Given the description of an element on the screen output the (x, y) to click on. 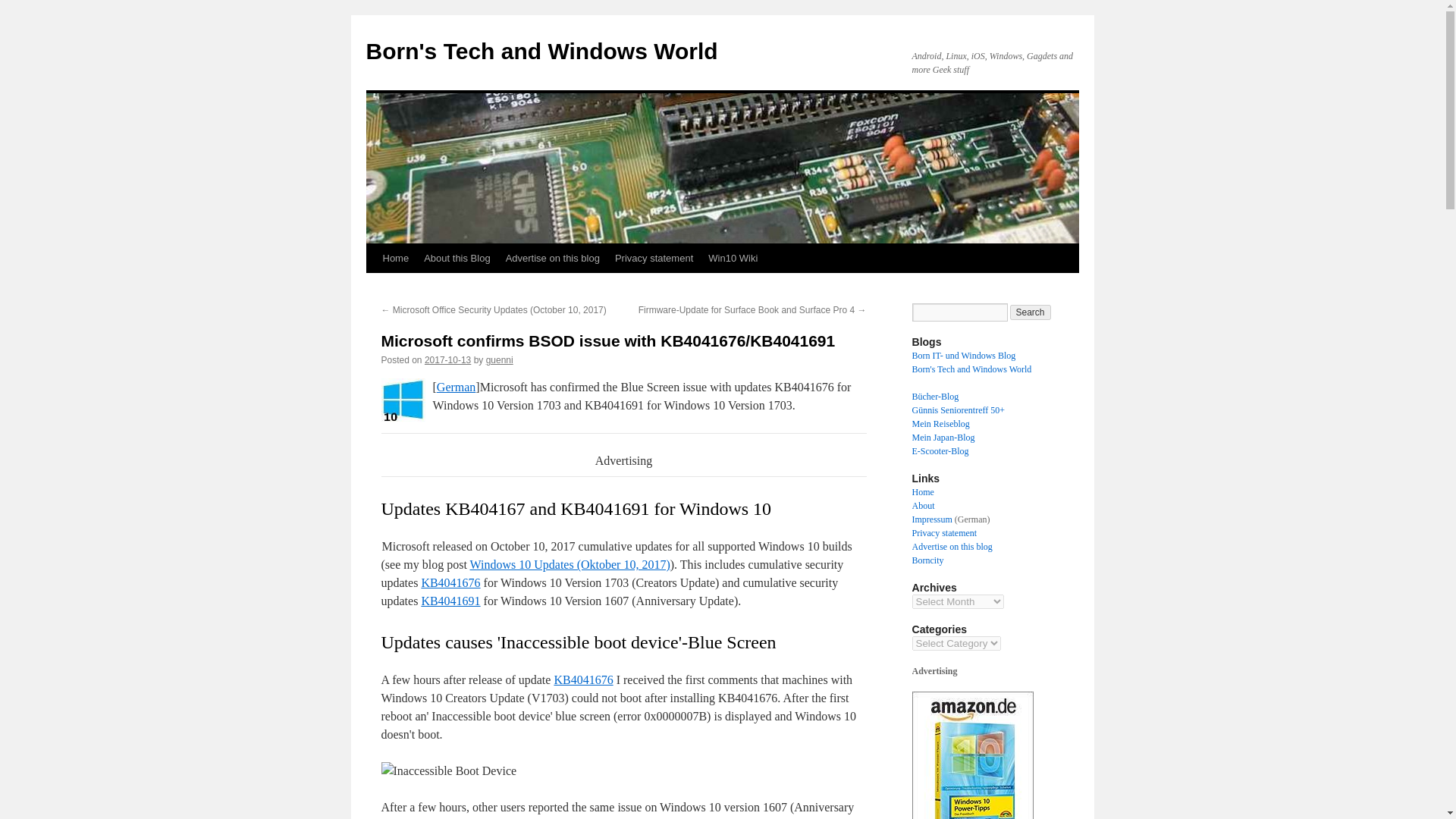
10:06 (447, 359)
German (456, 386)
Privacy statement (653, 258)
Advertise on this blog (552, 258)
KB4041676 (450, 582)
2017-10-13 (447, 359)
Win10 Wiki (732, 258)
KB4041691 (450, 600)
About this Blog (456, 258)
guenni (499, 359)
